Given the description of an element on the screen output the (x, y) to click on. 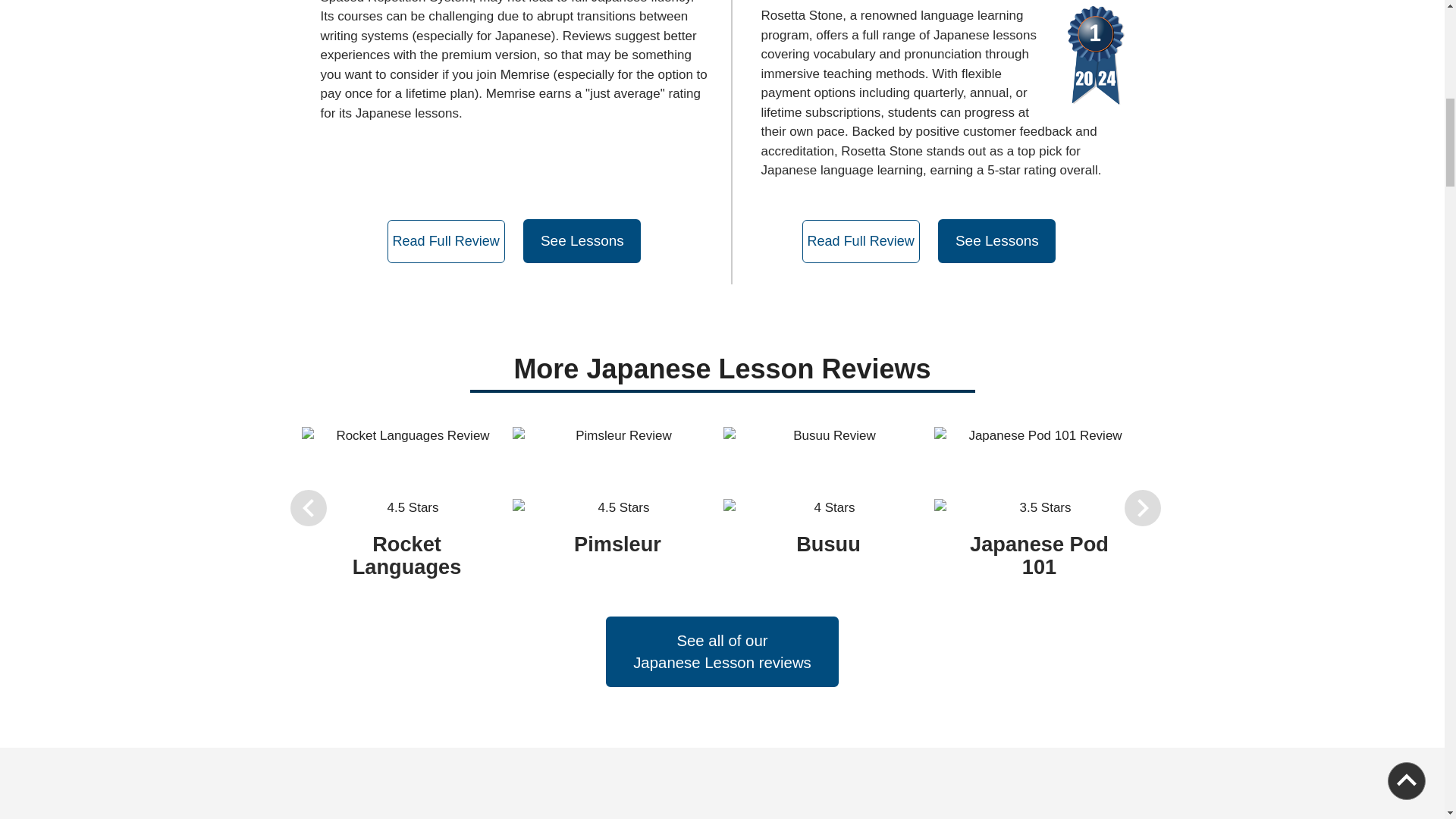
Read Our Rosetta Stone Review (861, 241)
Visit Memrise (581, 241)
Read Our Memrise Review (446, 241)
Visit Rosetta Stone (996, 241)
Japanese Lesson reviews (721, 663)
